Given the description of an element on the screen output the (x, y) to click on. 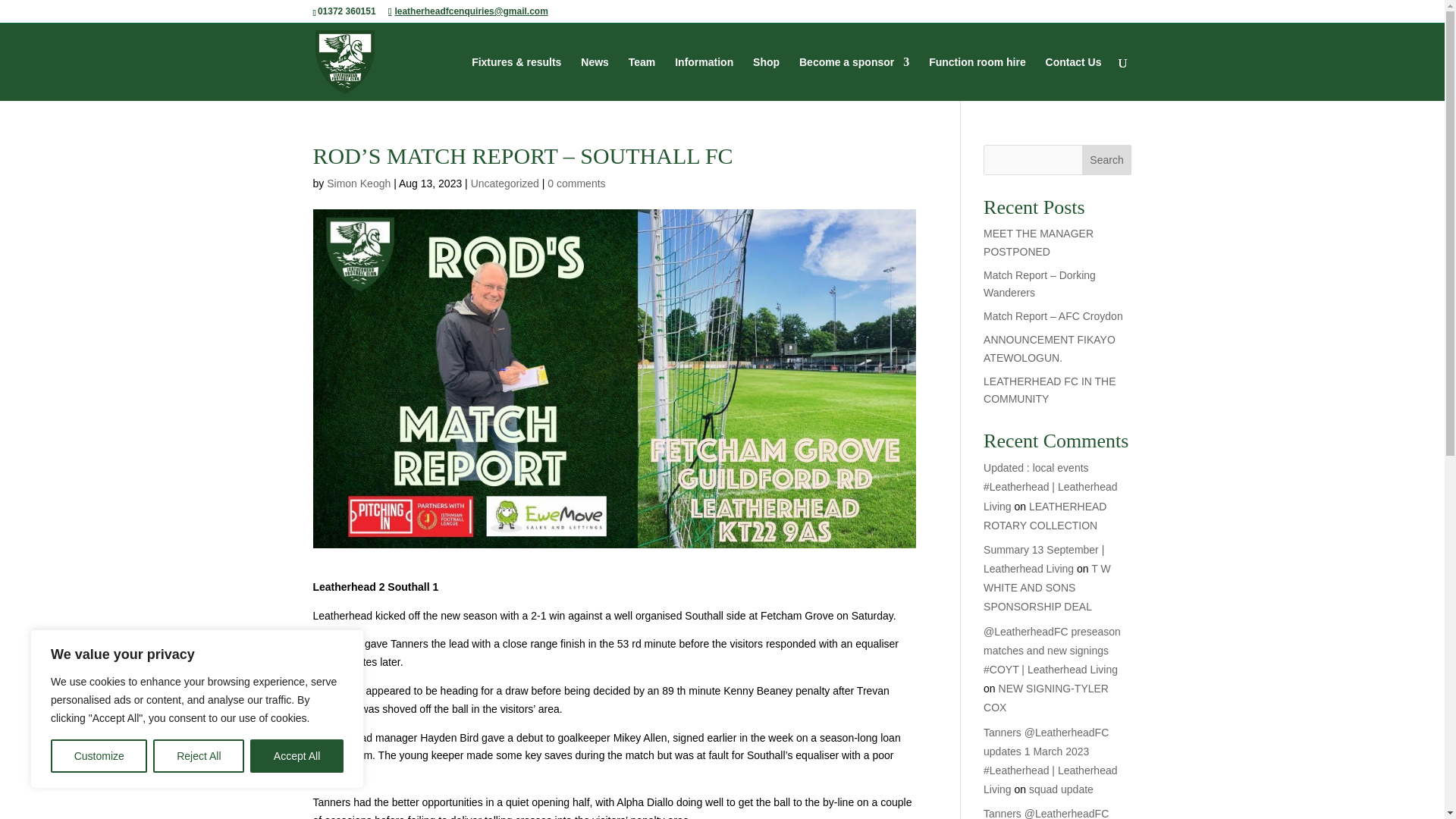
MEET THE MANAGER POSTPONED (1038, 242)
Posts by Simon Keogh (358, 183)
Simon Keogh (358, 183)
0 comments (576, 183)
Uncategorized (504, 183)
Information (704, 78)
Search (1106, 159)
Contact Us (1073, 78)
Reject All (198, 756)
Function room hire (977, 78)
Customize (98, 756)
Become a sponsor (853, 78)
Accept All (296, 756)
